Given the description of an element on the screen output the (x, y) to click on. 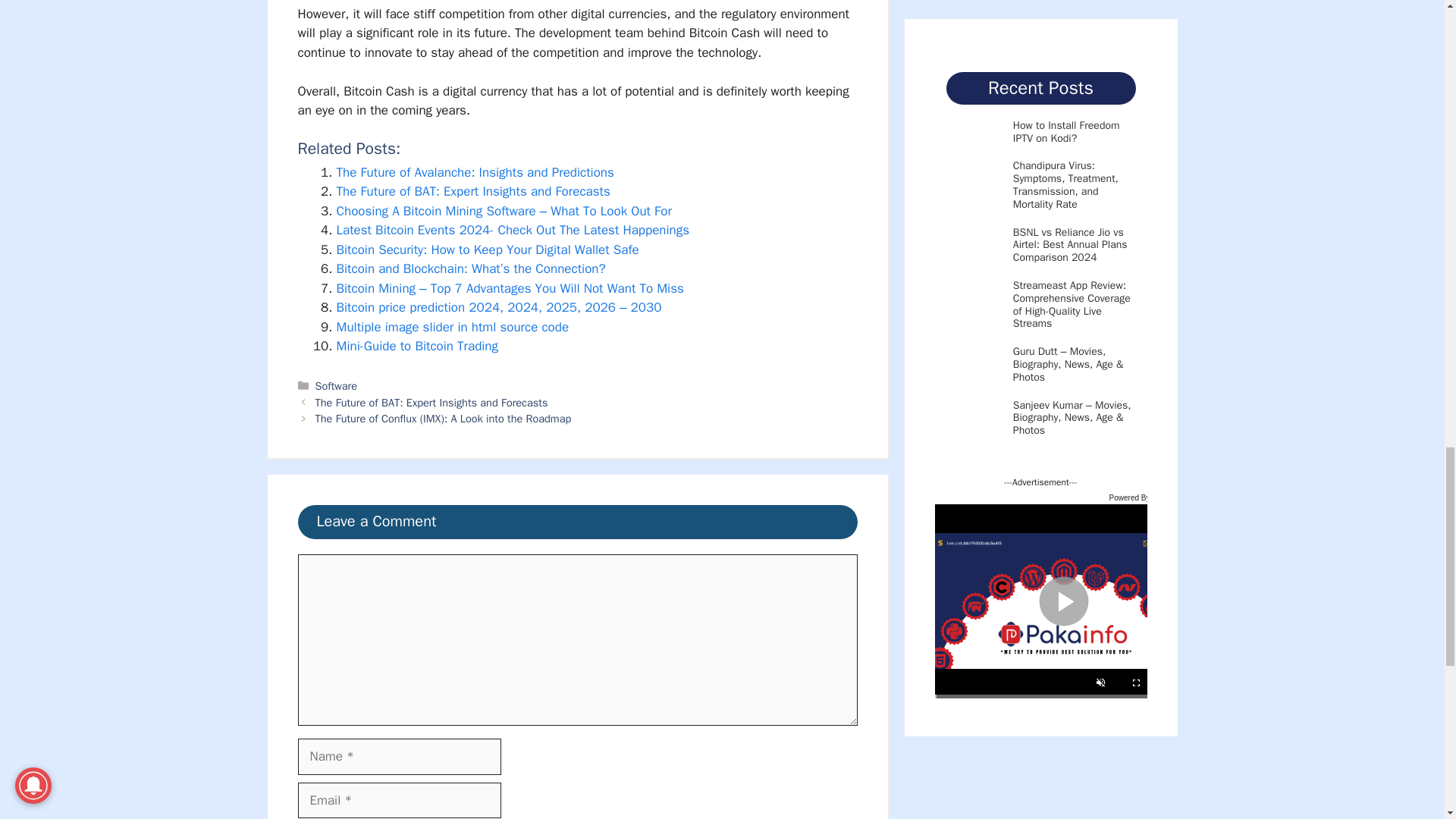
The Future of Avalanche: Insights and Predictions (475, 172)
